Given the description of an element on the screen output the (x, y) to click on. 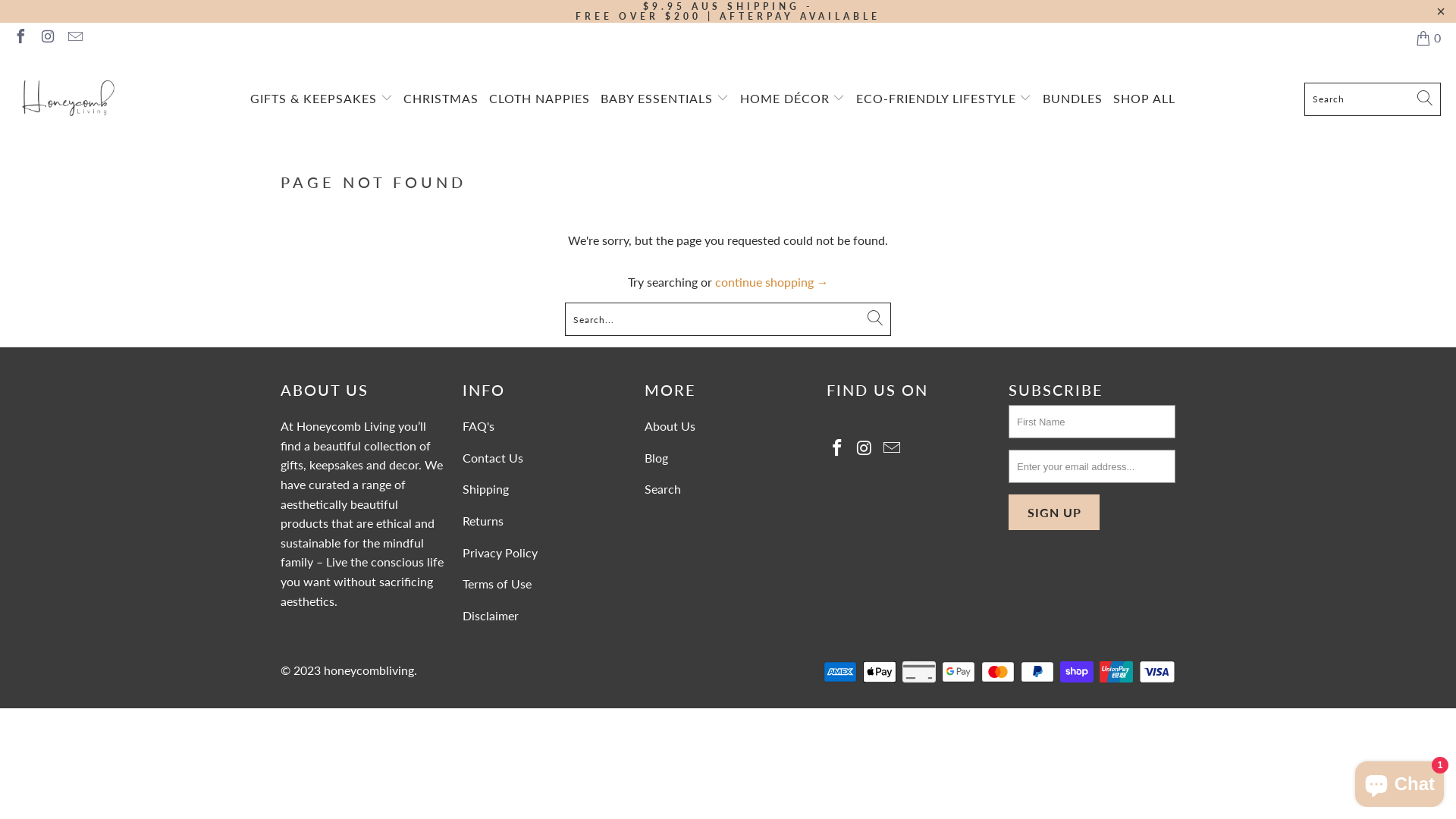
GIFTS & KEEPSAKES Element type: text (321, 98)
CLOTH NAPPIES Element type: text (539, 98)
Shipping Element type: text (485, 488)
Blog Element type: text (656, 457)
Sign Up Element type: text (1053, 512)
Contact Us Element type: text (492, 457)
honeycombliving Element type: text (368, 669)
Email honeycombliving Element type: hover (73, 37)
About Us Element type: text (669, 425)
honeycombliving on Instagram Element type: hover (864, 448)
honeycombliving on Facebook Element type: hover (837, 448)
Search Element type: text (662, 488)
Shopify online store chat Element type: hover (1399, 780)
Returns Element type: text (482, 520)
honeycombliving on Facebook Element type: hover (19, 37)
FAQ's Element type: text (478, 425)
BUNDLES Element type: text (1072, 98)
BABY ESSENTIALS Element type: text (664, 98)
Disclaimer Element type: text (490, 615)
Privacy Policy Element type: text (499, 552)
Terms of Use Element type: text (496, 583)
ECO-FRIENDLY LIFESTYLE Element type: text (944, 98)
honeycombliving on Instagram Element type: hover (46, 37)
CHRISTMAS Element type: text (440, 98)
Honeycomb Living Element type: text (345, 425)
SHOP ALL Element type: text (1144, 98)
Email honeycombliving Element type: hover (891, 448)
honeycombliving Element type: hover (68, 98)
